Given the description of an element on the screen output the (x, y) to click on. 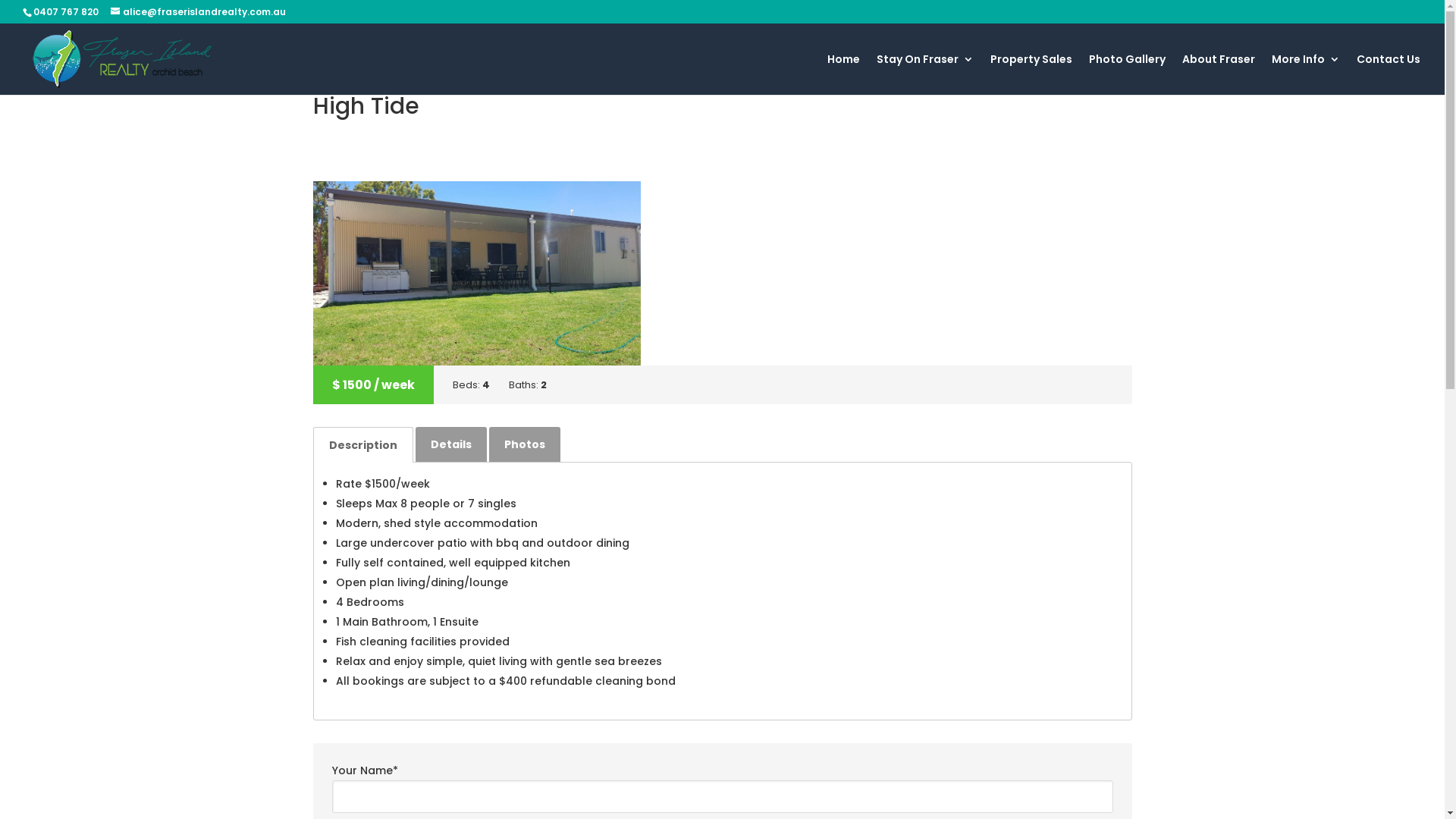
About Fraser Element type: text (1218, 73)
Description Element type: text (362, 444)
Contact Us Element type: text (1388, 73)
Photos Element type: text (523, 443)
Photo Gallery Element type: text (1126, 73)
Details Element type: text (450, 443)
Home Element type: text (843, 73)
Property Sales Element type: text (1031, 73)
Stay On Fraser Element type: text (924, 73)
More Info Element type: text (1305, 73)
alice@fraserislandrealty.com.au Element type: text (197, 11)
